Given the description of an element on the screen output the (x, y) to click on. 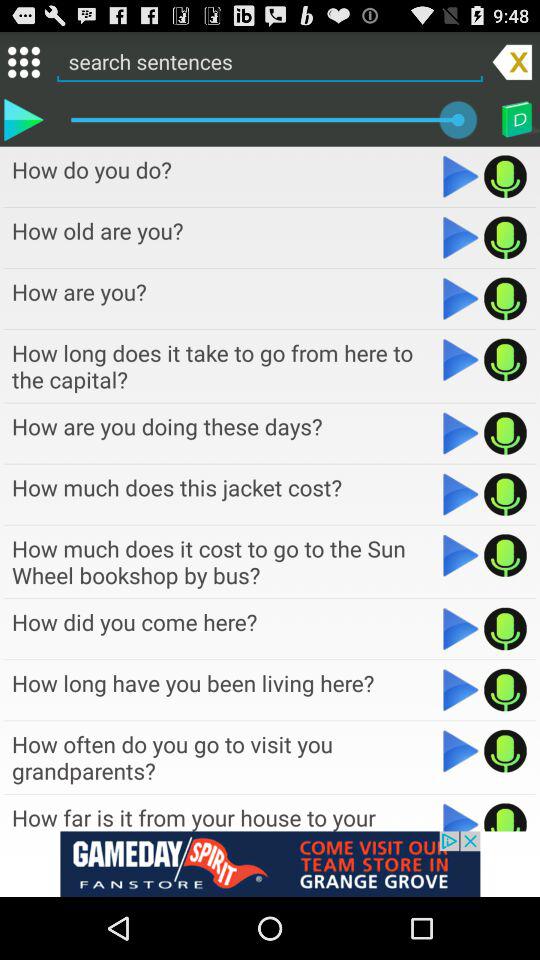
search sentences (269, 61)
